Given the description of an element on the screen output the (x, y) to click on. 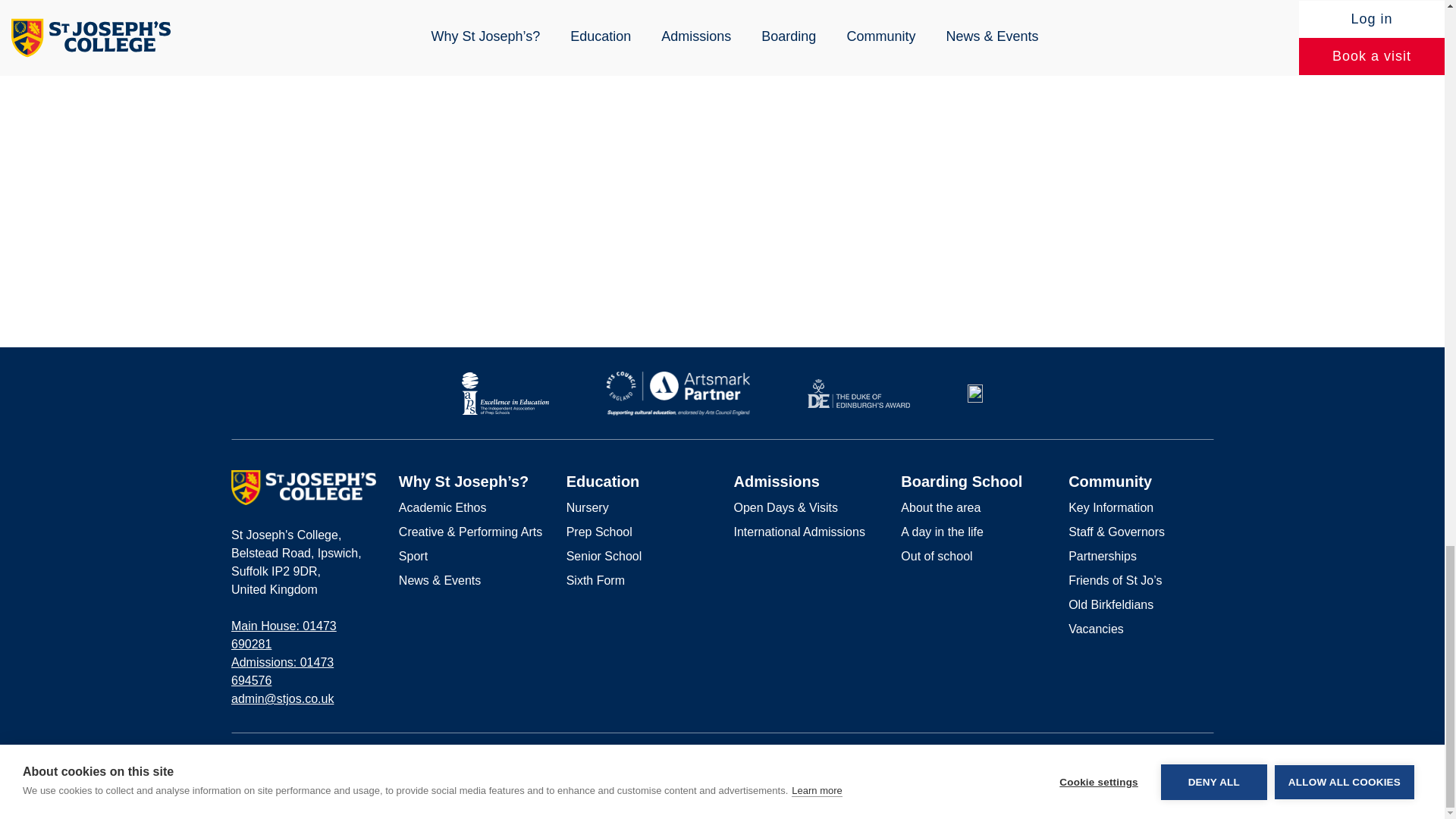
Facebook (1158, 758)
Twitter (1206, 759)
Instagram (1182, 758)
